Given the description of an element on the screen output the (x, y) to click on. 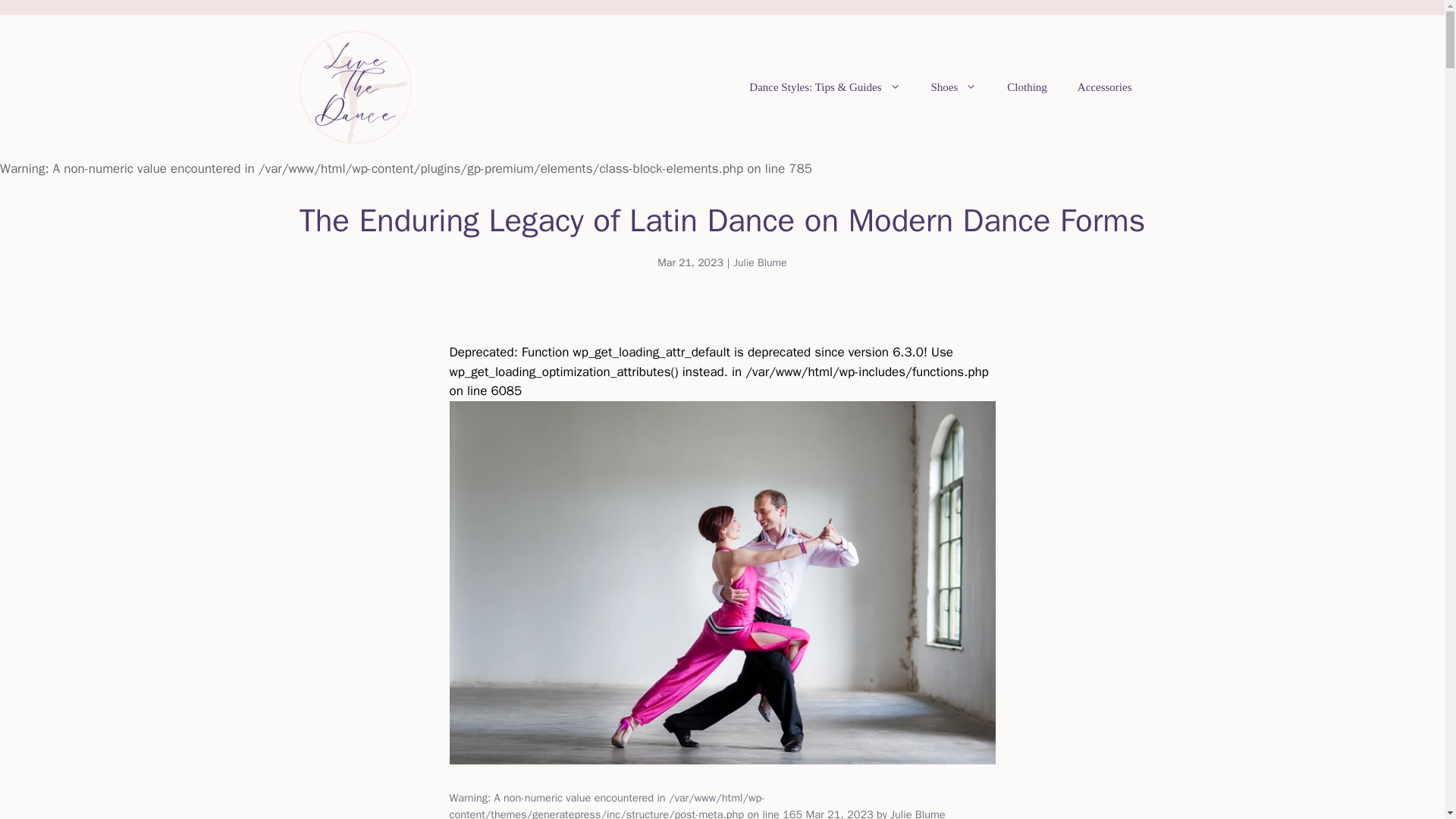
Accessories (1104, 86)
Shoes (953, 86)
View all posts by Julie Blume (916, 813)
Clothing (1026, 86)
